Given the description of an element on the screen output the (x, y) to click on. 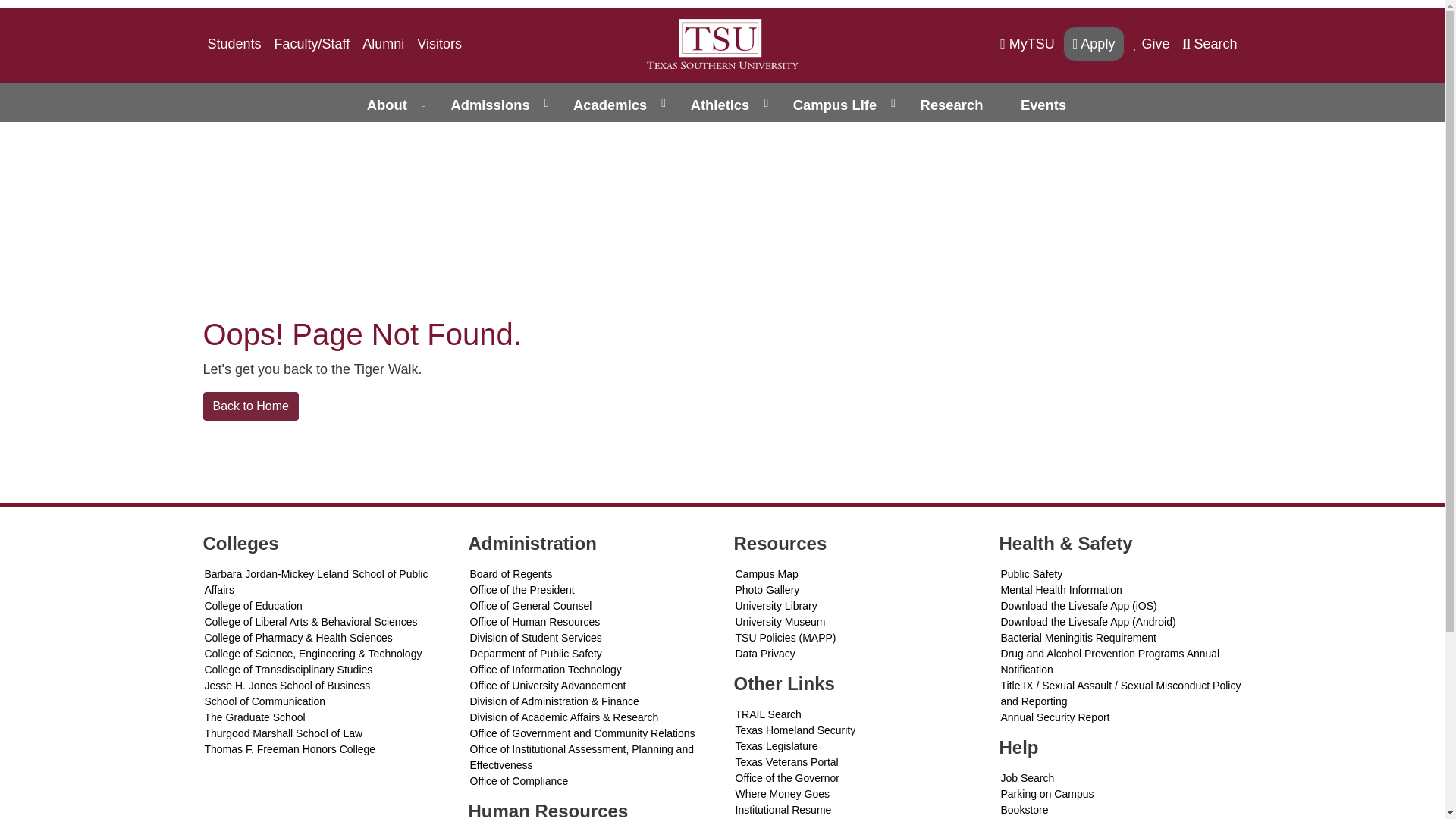
Link for Alumni (383, 43)
MyTSU (1027, 43)
Link to MyTSU (1027, 43)
Link To the School of Communication Website (324, 701)
Link To the College of Pharmacy and Health Sciences  Website (324, 637)
Link to Give (1150, 43)
Alumni (383, 43)
About (385, 102)
Link To the College of Education Website (324, 606)
